Given the description of an element on the screen output the (x, y) to click on. 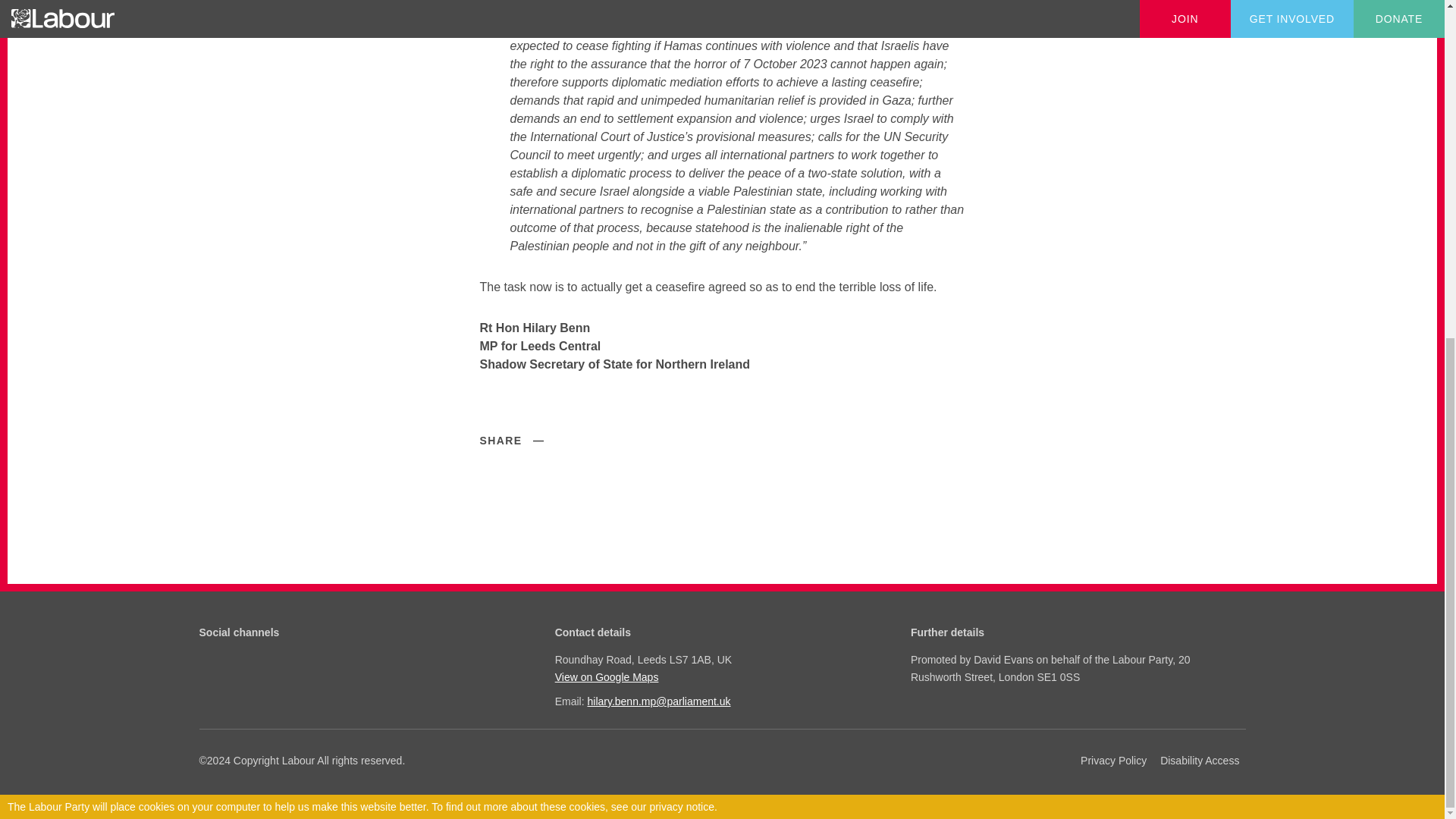
Disability Access (1199, 760)
Privacy Policy (1113, 760)
View on Google Maps (719, 677)
